Given the description of an element on the screen output the (x, y) to click on. 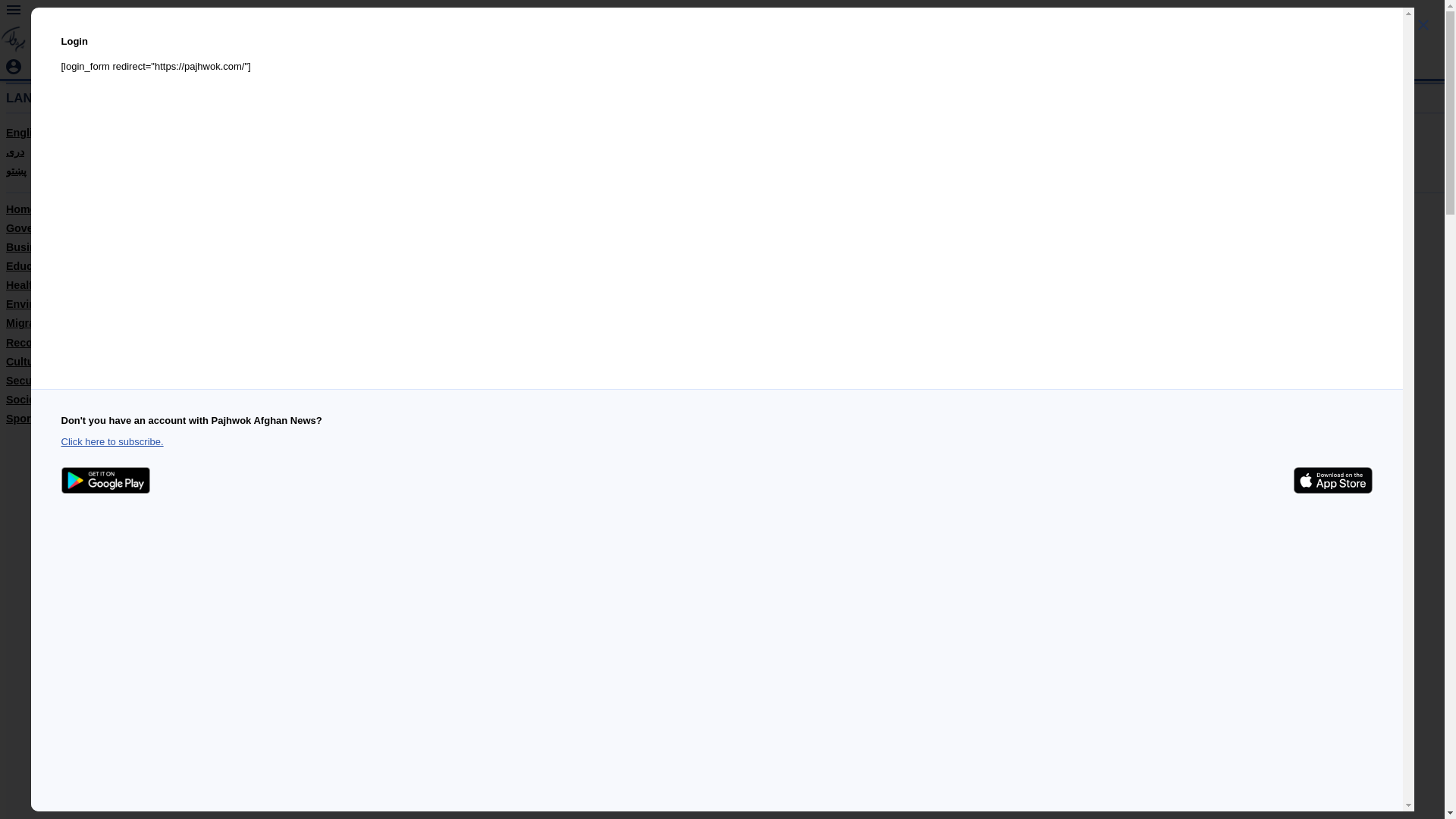
Click here to subscribe. (112, 441)
Factcheck (31, 15)
Society (25, 399)
Culture (24, 361)
About Us (367, 15)
Afghan Peace Process (111, 15)
Governance (36, 227)
Sports (22, 418)
Security (26, 380)
Environment (38, 304)
Migration (30, 322)
English (25, 132)
Reconstruction (45, 342)
English (25, 34)
Afghanistan Mines (211, 15)
